Given the description of an element on the screen output the (x, y) to click on. 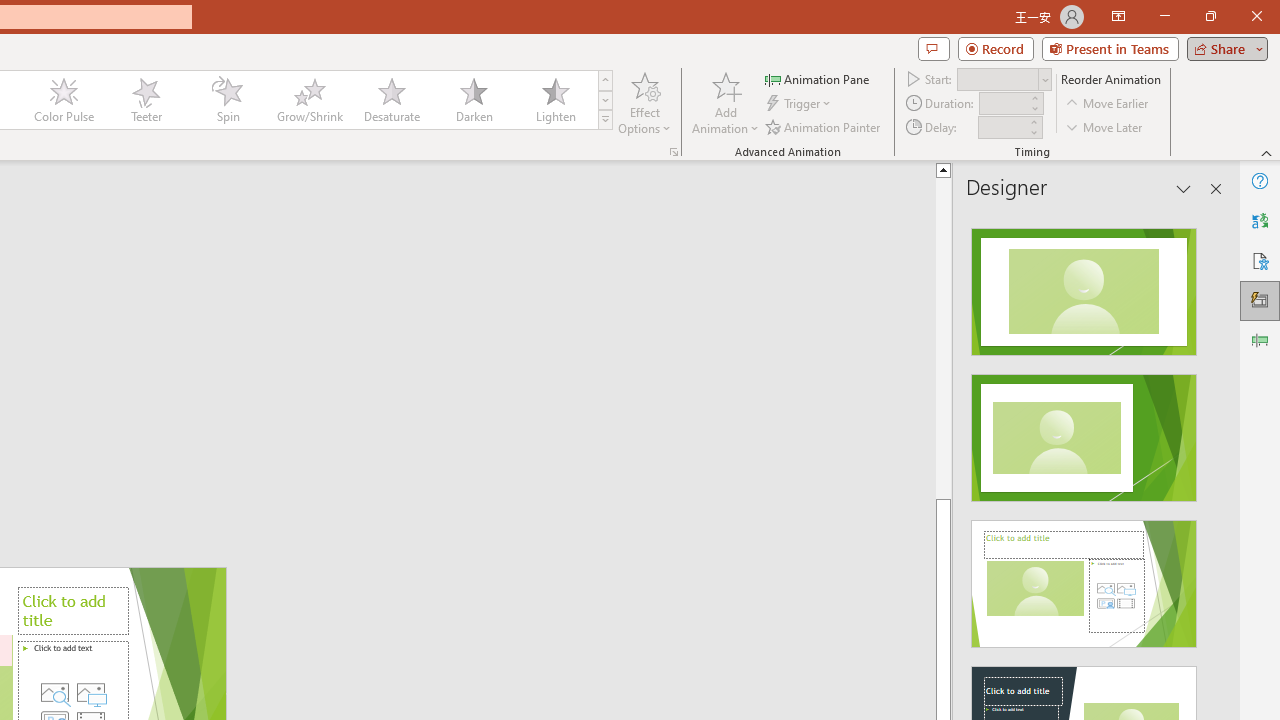
Class: NetUIImage (605, 119)
Help (1260, 180)
